Given the description of an element on the screen output the (x, y) to click on. 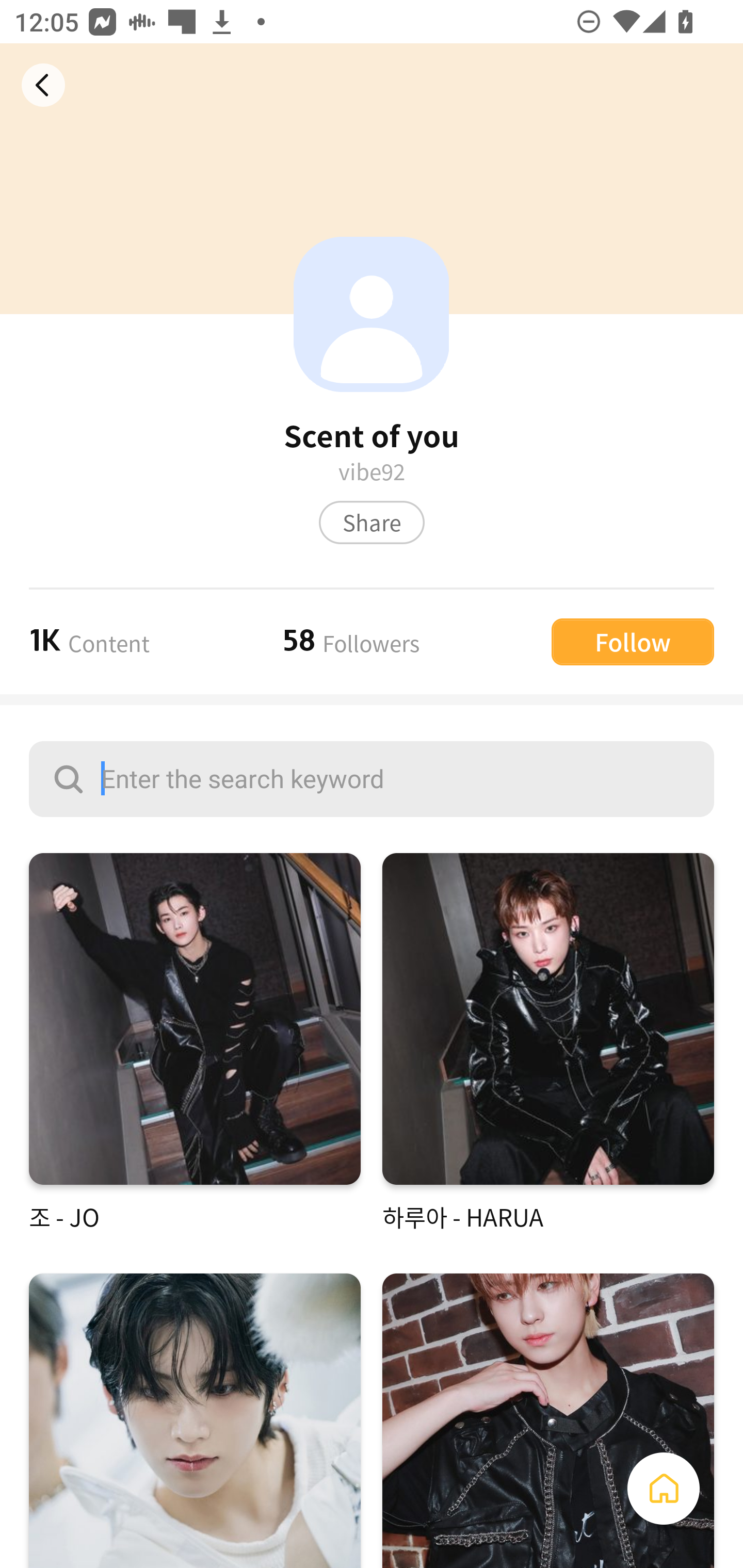
Share (371, 522)
Follow (632, 640)
Enter the search keyword (371, 778)
조  -  JO (194, 1043)
하루아  -  HARUA (548, 1043)
